Given the description of an element on the screen output the (x, y) to click on. 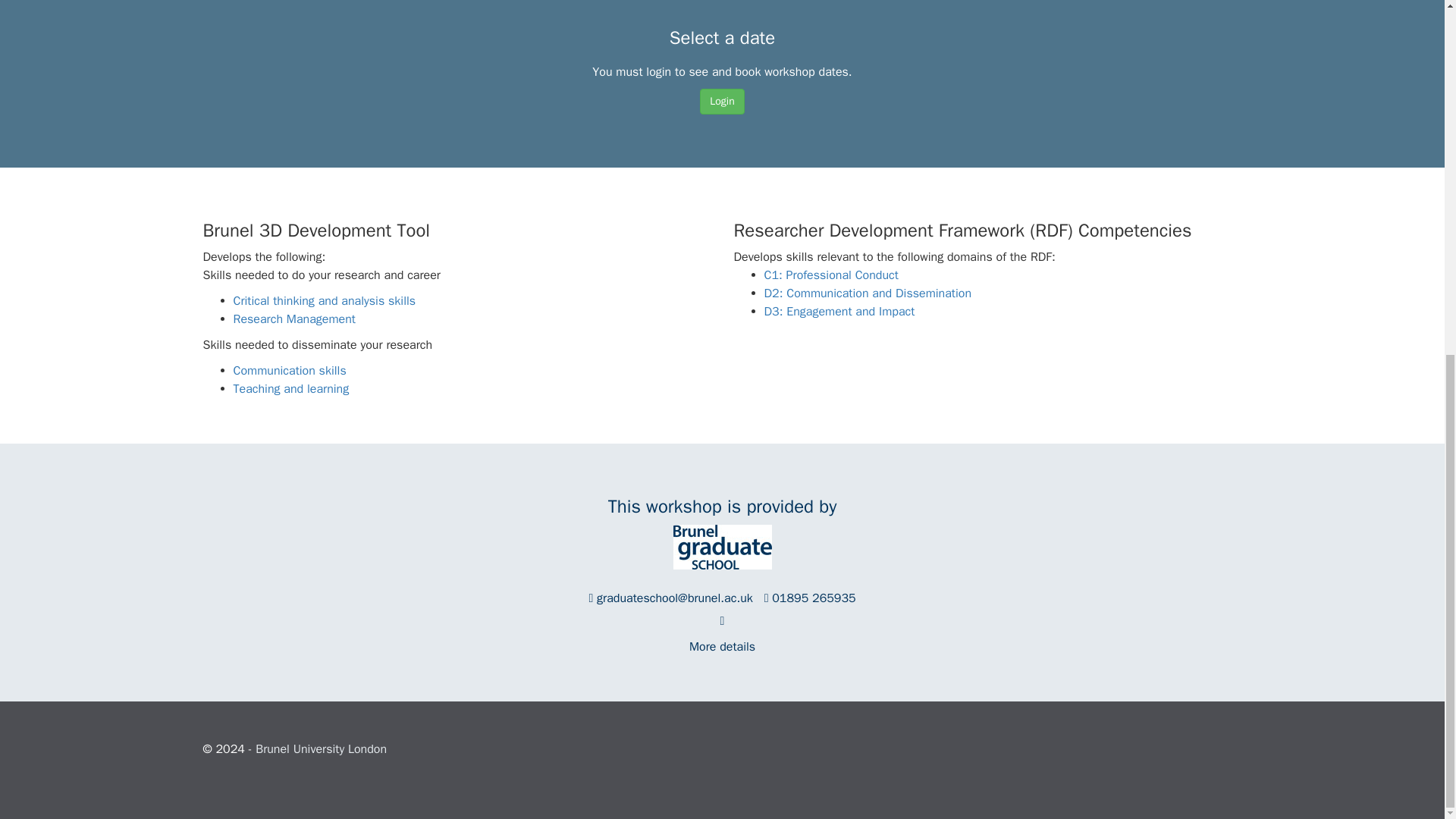
C1: Professional Conduct (831, 274)
D3: Engagement and Impact (839, 311)
Research Management (293, 319)
01895 265935 (813, 598)
More details (721, 646)
Critical thinking and analysis skills (324, 300)
Brunel University London (321, 749)
Communication skills (289, 370)
D2: Communication and Dissemination (868, 293)
Teaching and learning (290, 388)
Login (722, 101)
